Given the description of an element on the screen output the (x, y) to click on. 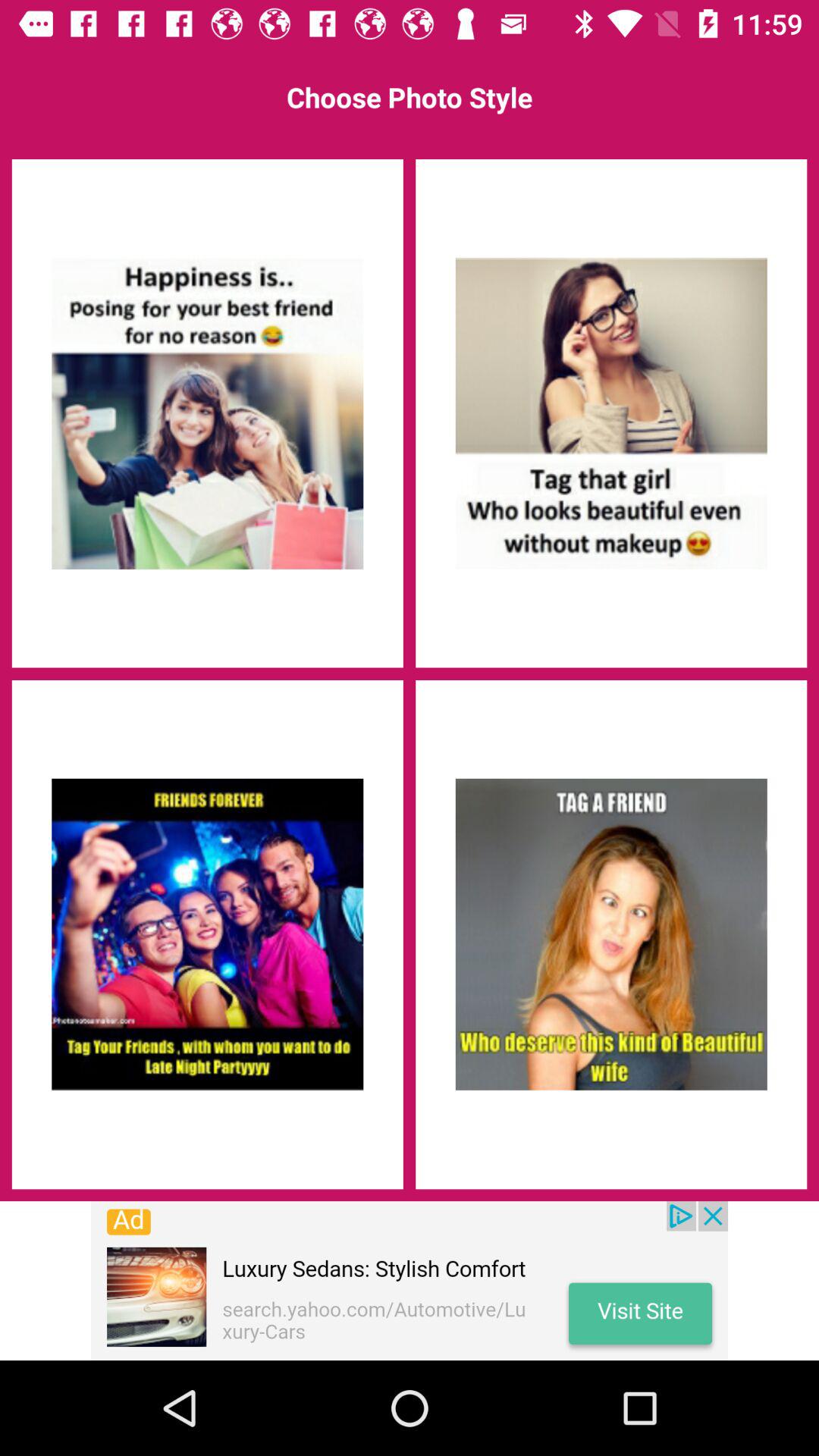
choose group photo option (207, 934)
